Given the description of an element on the screen output the (x, y) to click on. 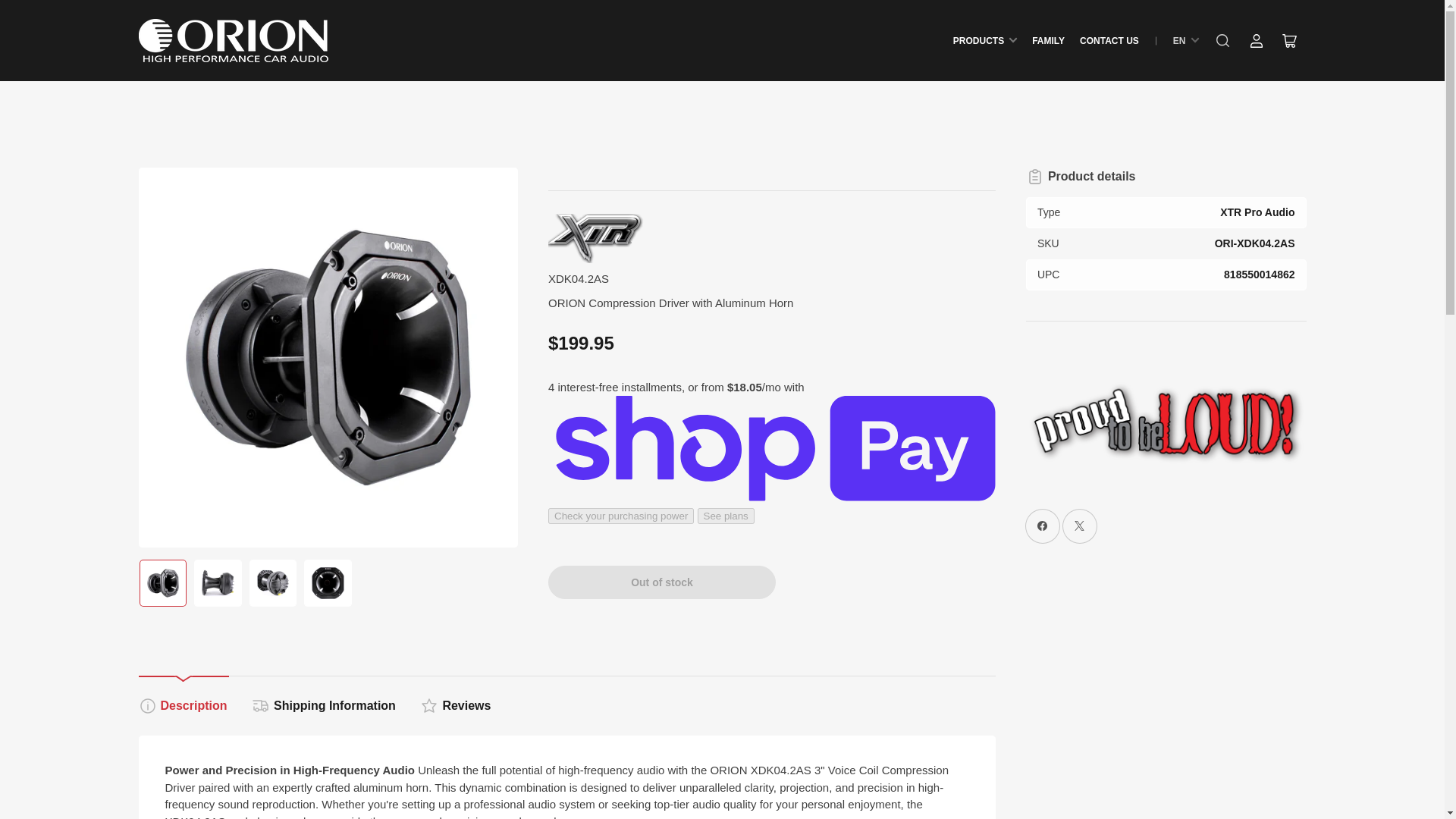
PRODUCTS (984, 39)
EN (1186, 40)
CONTACT US (1109, 39)
FAMILY (1048, 39)
